Given the description of an element on the screen output the (x, y) to click on. 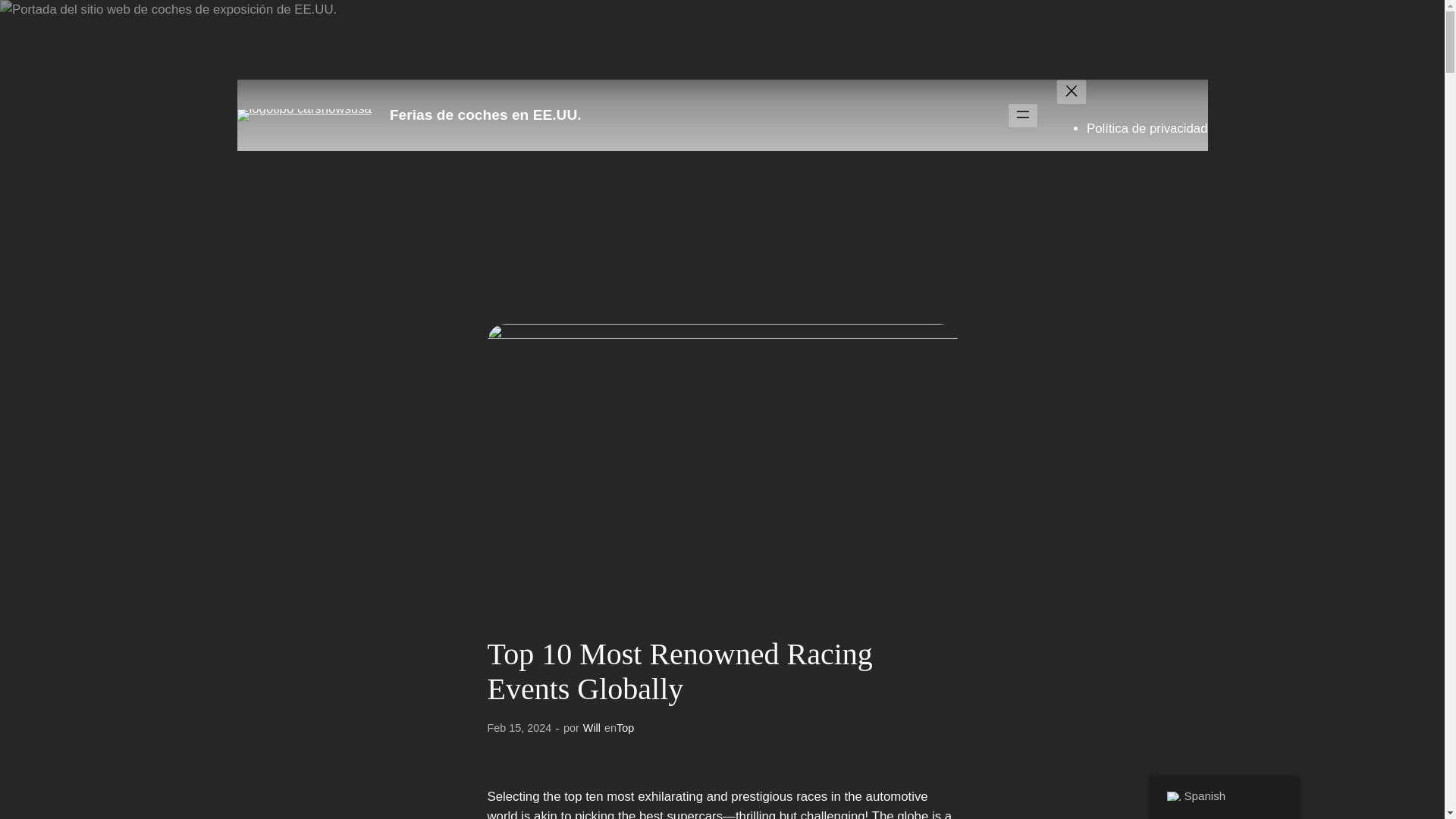
Will (591, 727)
Spanish (1224, 795)
Top (624, 727)
Spanish (1172, 795)
Feb 15, 2024 (518, 727)
Ferias de coches en EE.UU. (485, 114)
